Given the description of an element on the screen output the (x, y) to click on. 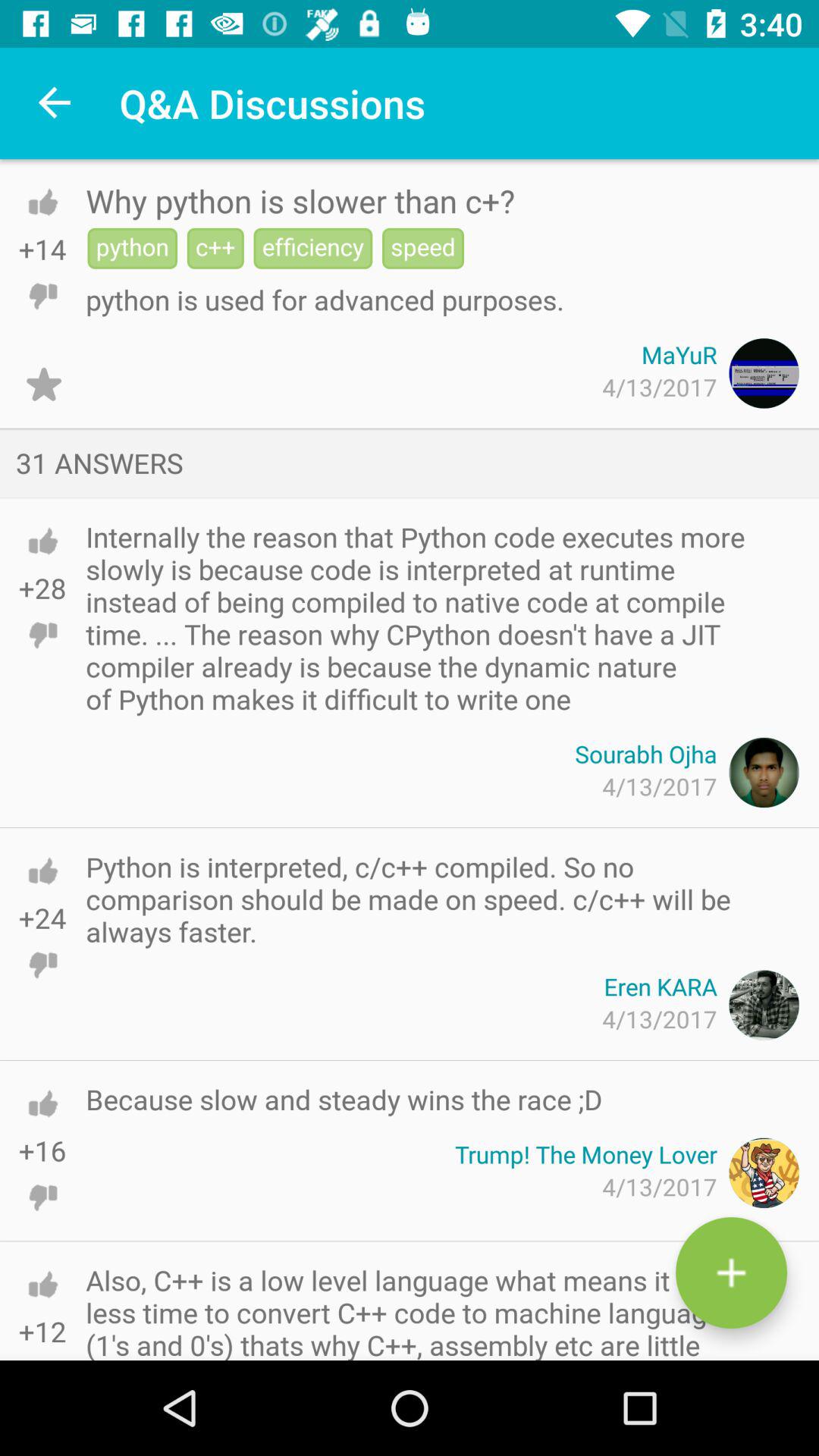
downvote the post (42, 1347)
